Given the description of an element on the screen output the (x, y) to click on. 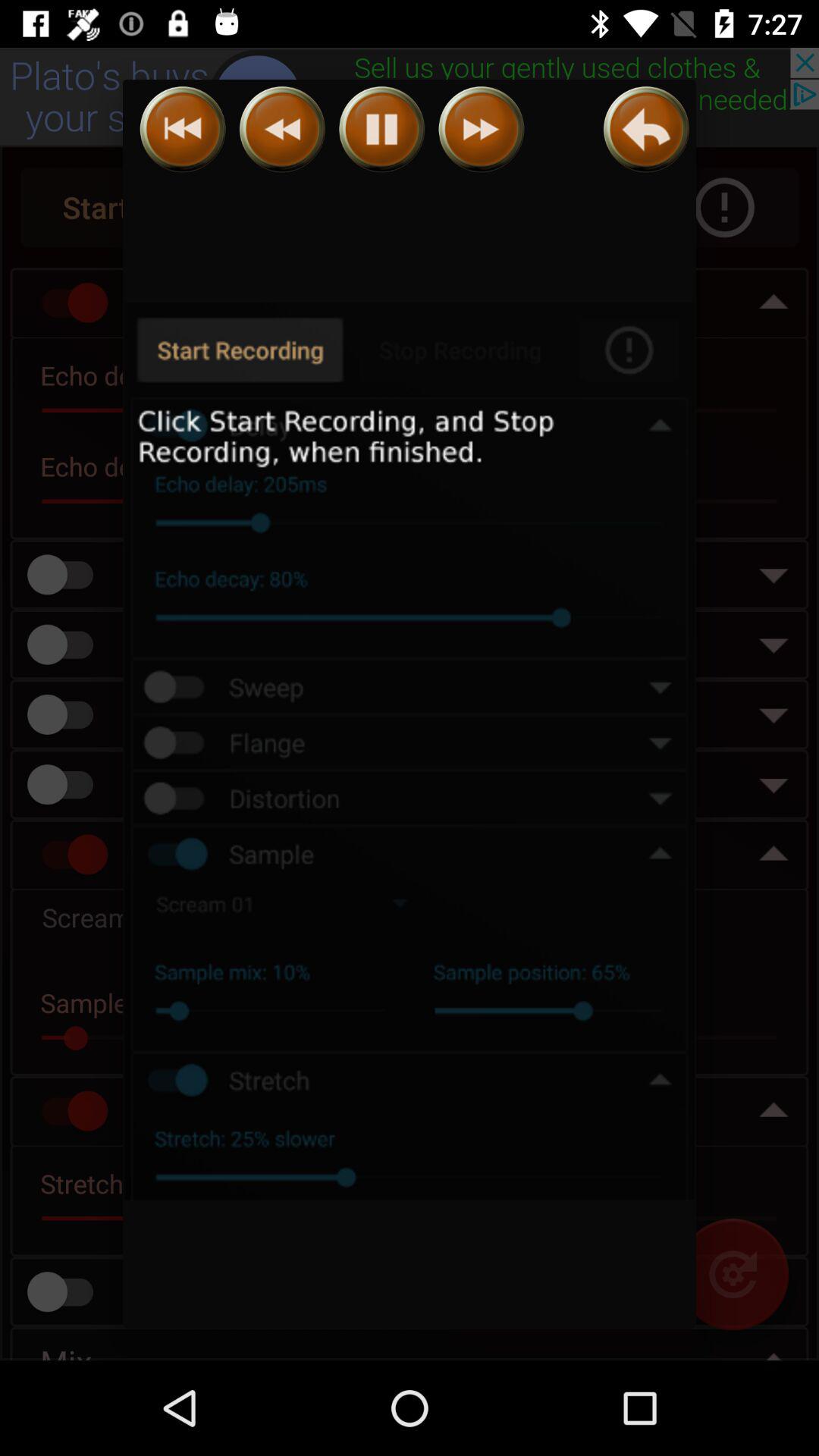
fast forward (481, 129)
